Given the description of an element on the screen output the (x, y) to click on. 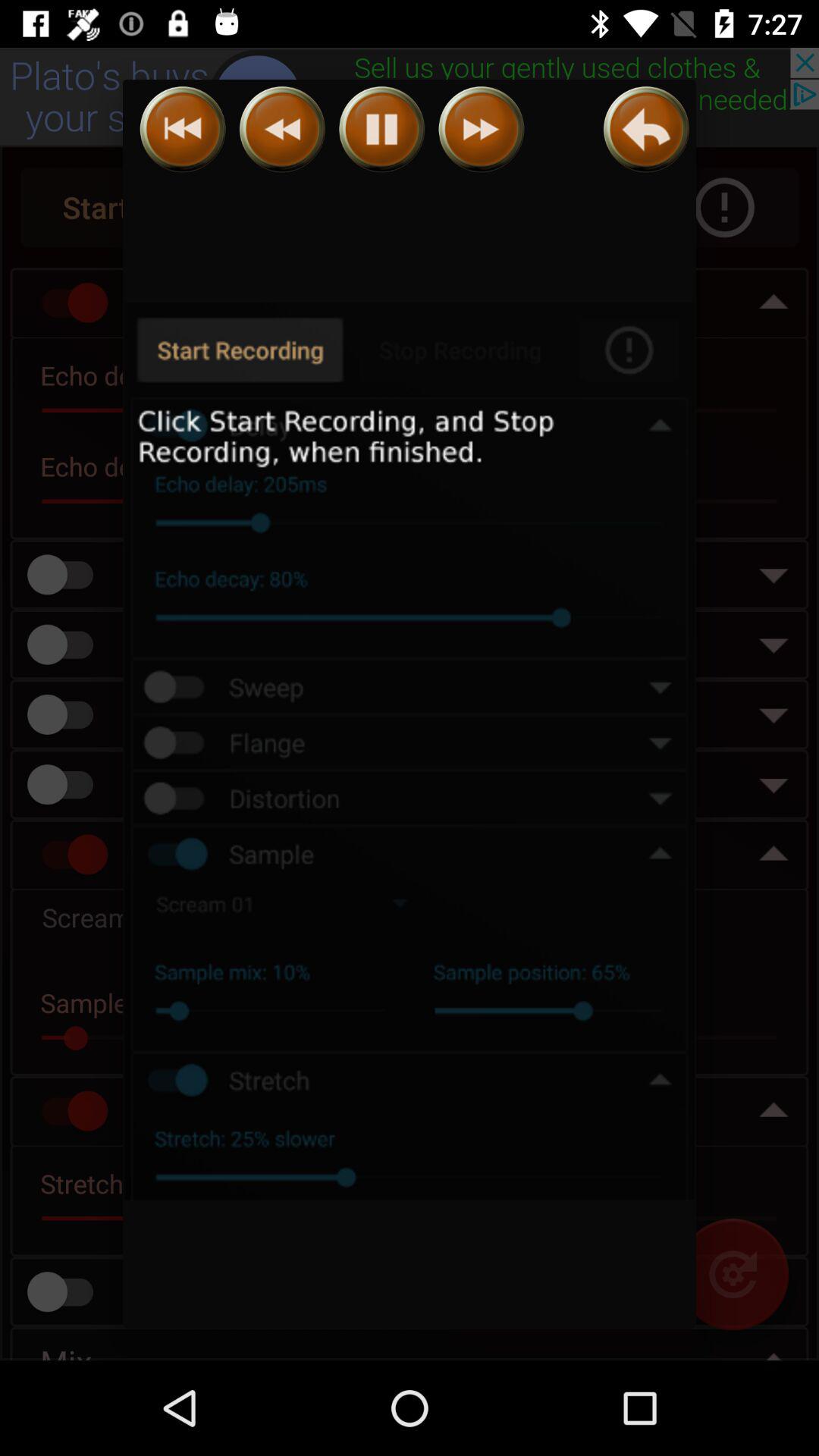
fast forward (481, 129)
